Given the description of an element on the screen output the (x, y) to click on. 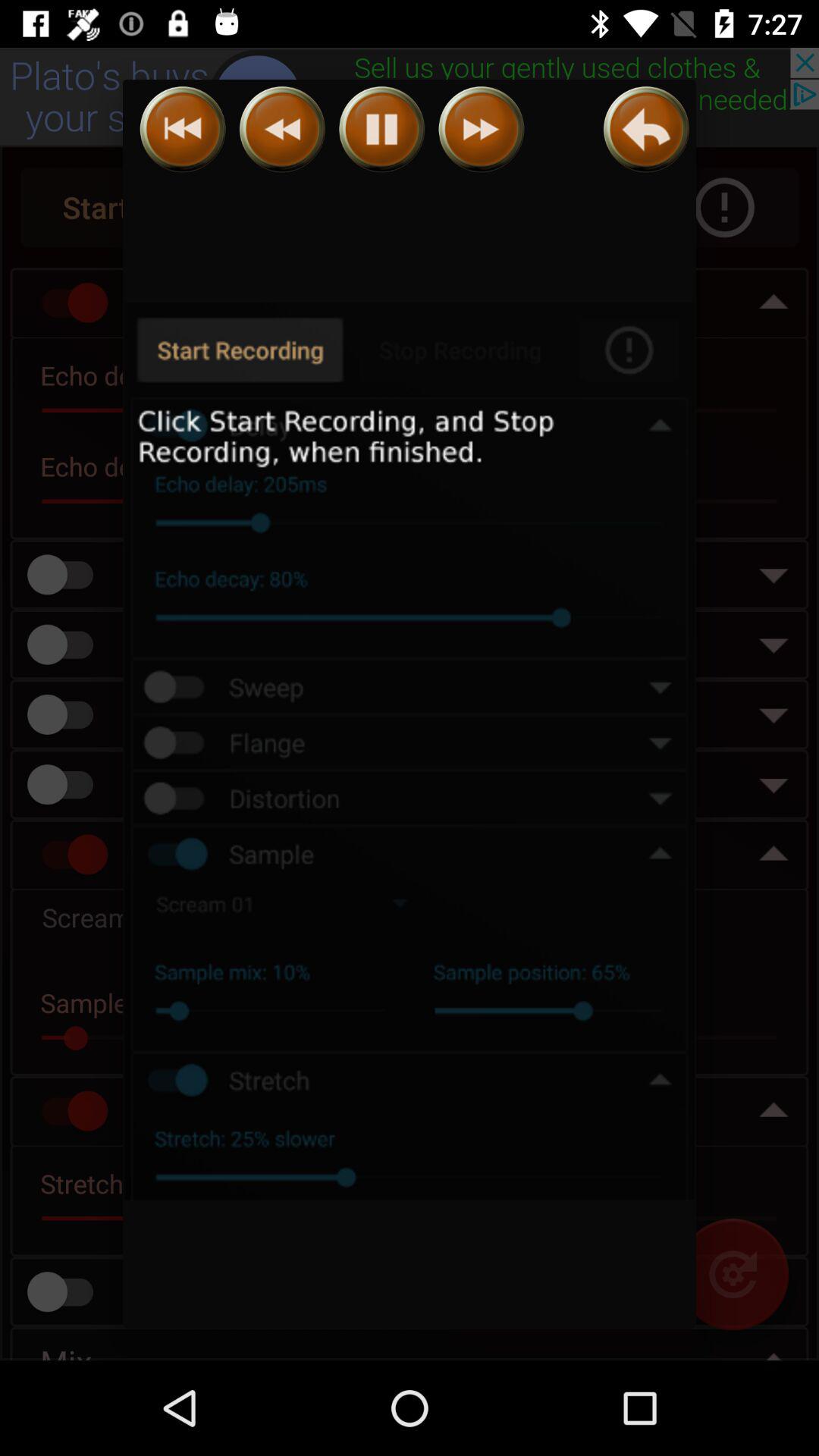
fast forward (481, 129)
